Given the description of an element on the screen output the (x, y) to click on. 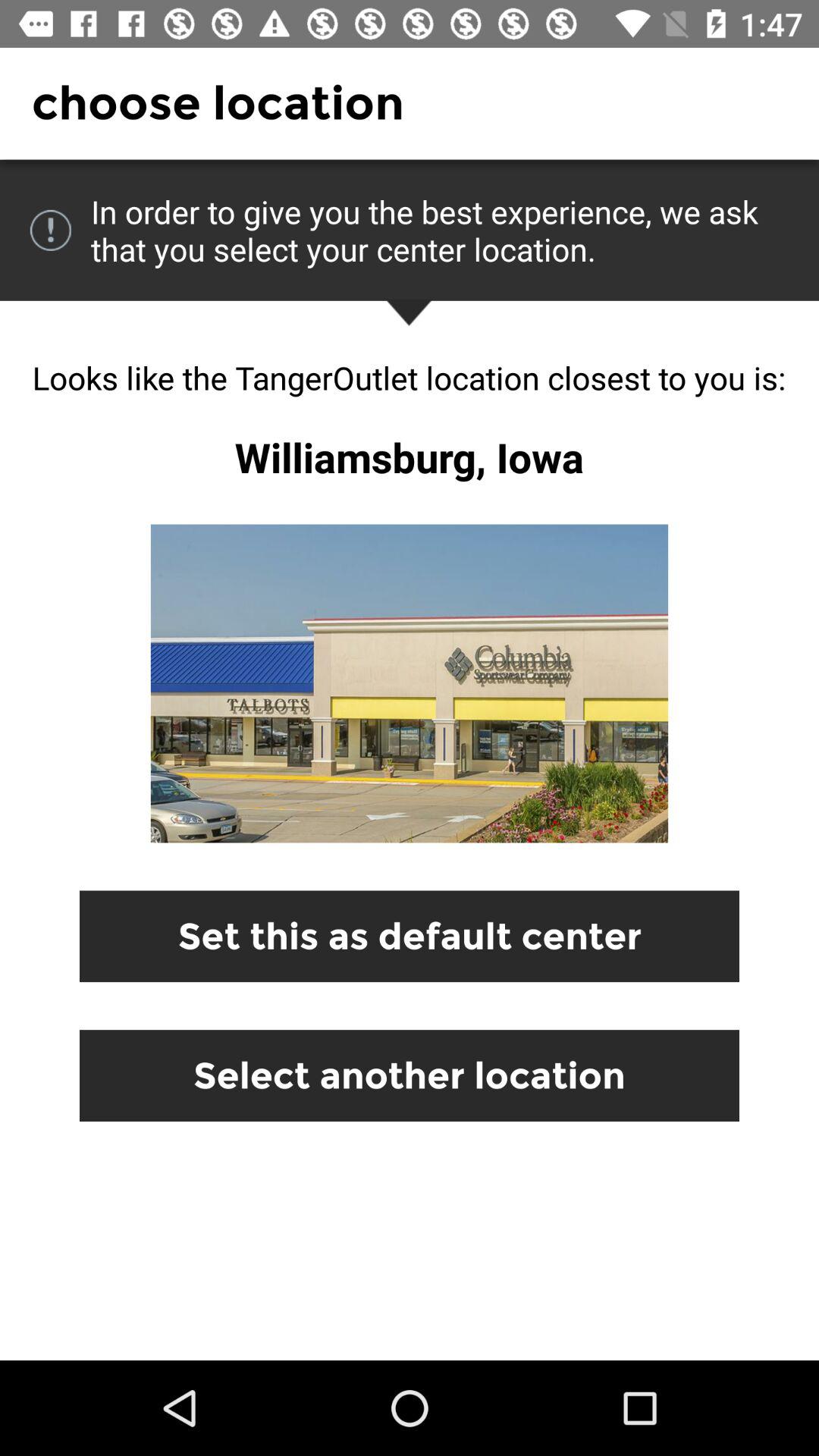
swipe to set this as icon (409, 936)
